Given the description of an element on the screen output the (x, y) to click on. 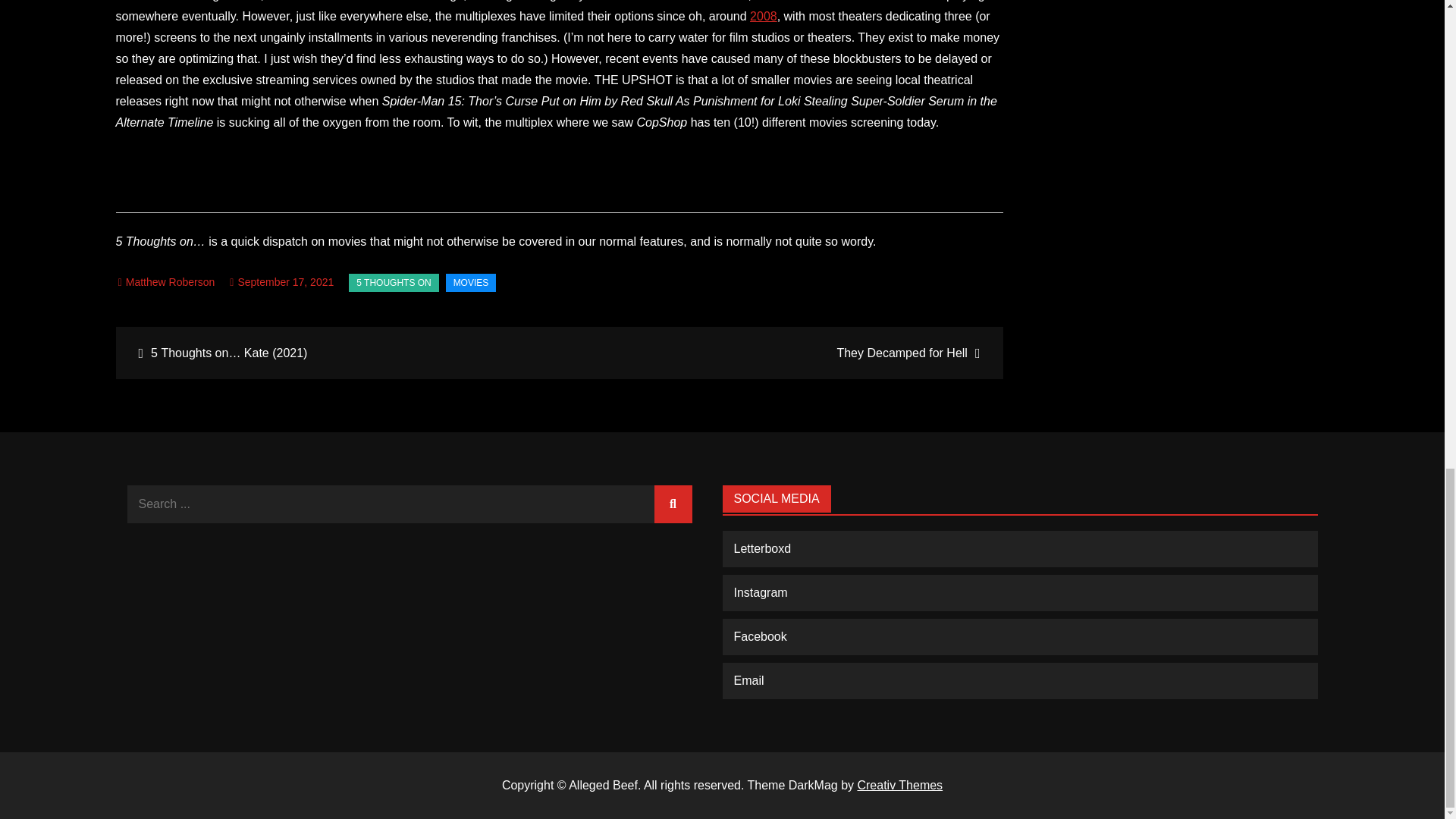
Email (748, 680)
Search for: (410, 504)
Matthew Roberson (166, 282)
Creativ Themes (899, 784)
5 THOUGHTS ON (393, 282)
2008 (763, 15)
September 17, 2021 (281, 282)
MOVIES (470, 282)
Letterboxd (762, 548)
Instagram (760, 592)
Search (672, 504)
Facebook (760, 635)
They Decamped for Hell (778, 352)
